Given the description of an element on the screen output the (x, y) to click on. 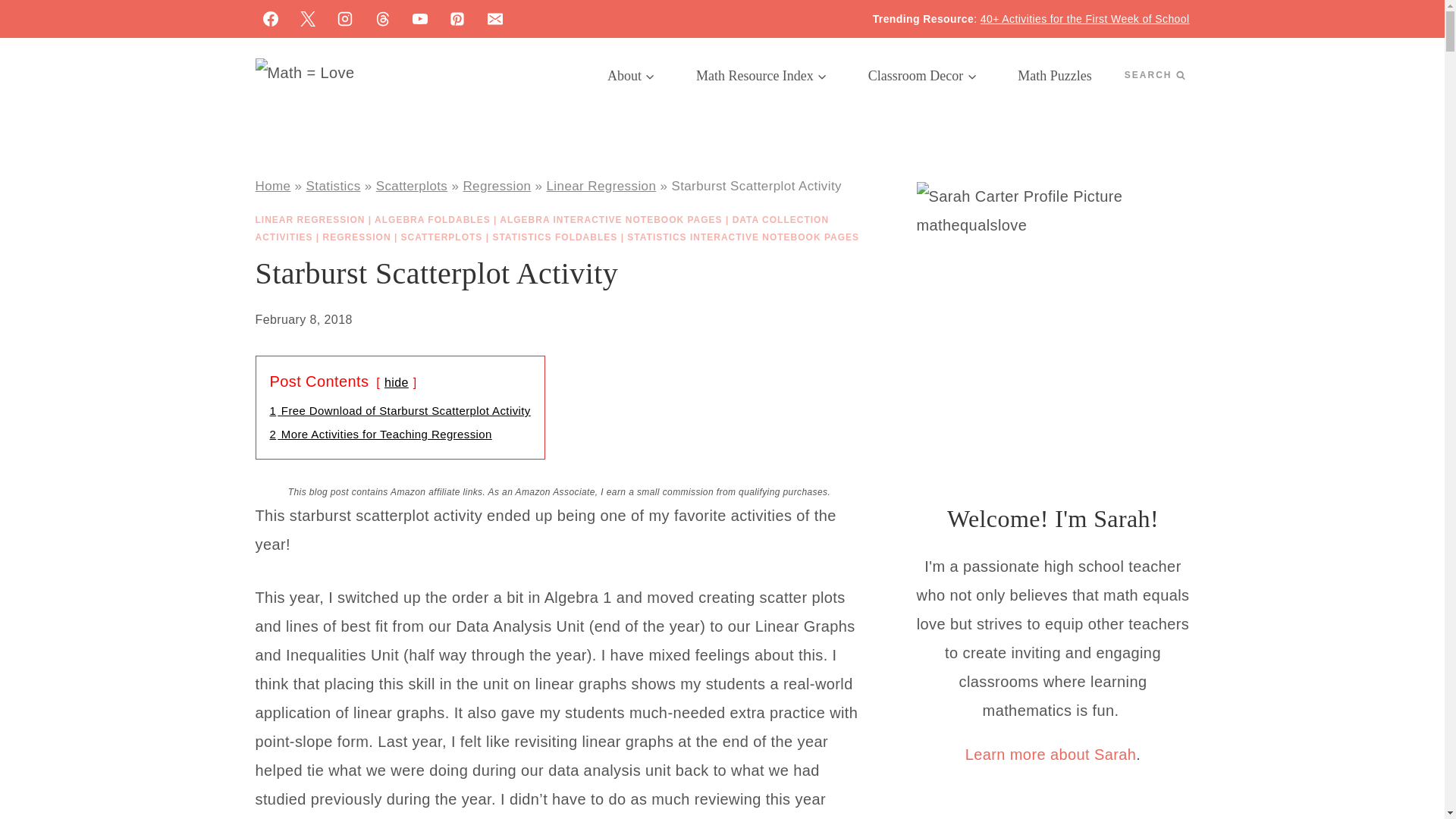
Home (271, 186)
About (630, 75)
Math Resource Index (761, 75)
SEARCH (1154, 74)
Math Puzzles (1054, 75)
LINEAR REGRESSION (309, 219)
Scatterplots (411, 186)
Classroom Decor (922, 75)
Regression (497, 186)
Statistics (333, 186)
